Given the description of an element on the screen output the (x, y) to click on. 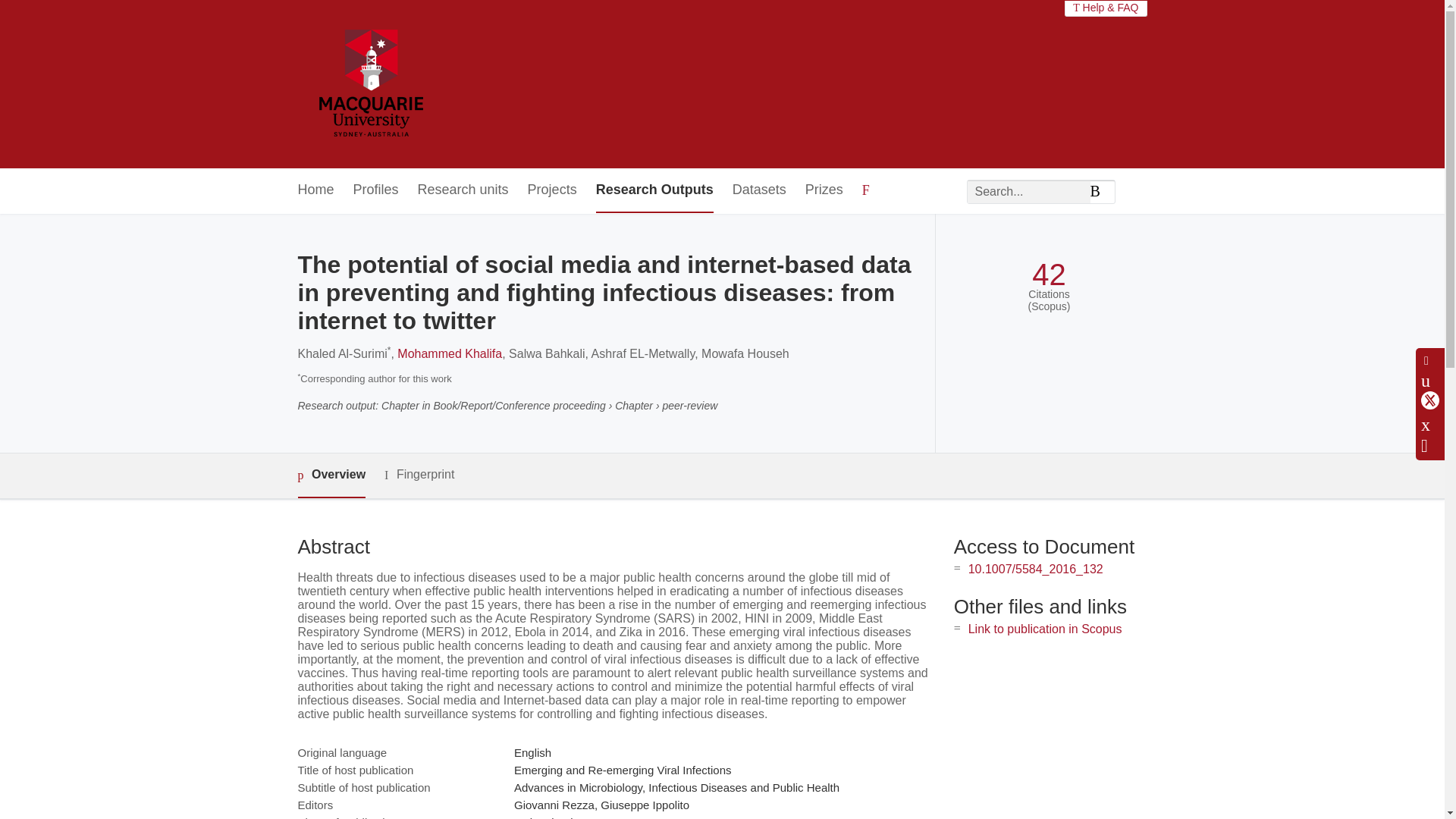
Macquarie University Home (369, 84)
Fingerprint (419, 474)
Profiles (375, 190)
Mohammed Khalifa (449, 353)
Projects (551, 190)
42 (1048, 274)
Research units (462, 190)
Link to publication in Scopus (1045, 628)
Overview (331, 475)
